Given the description of an element on the screen output the (x, y) to click on. 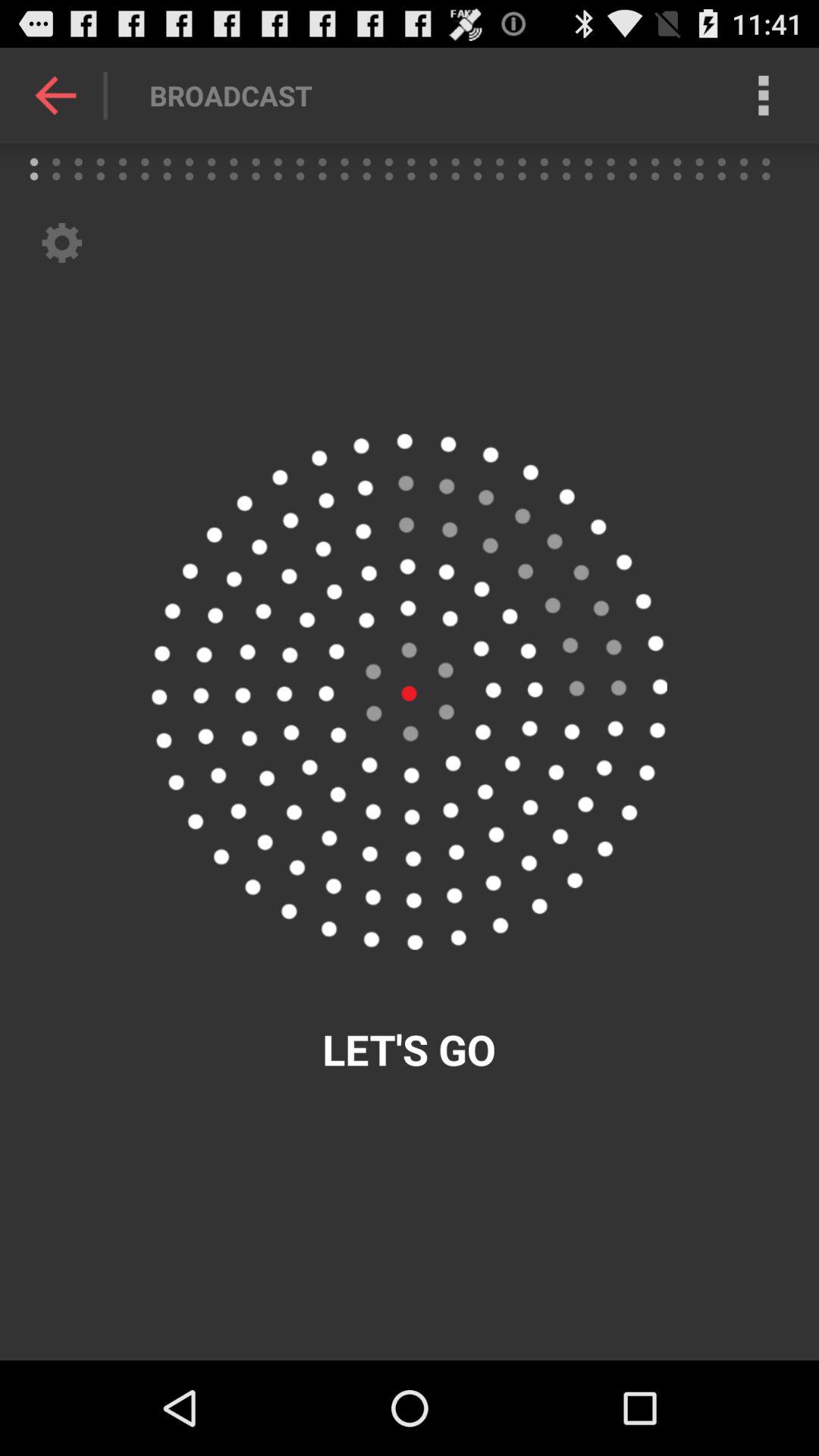
change display (409, 691)
